Given the description of an element on the screen output the (x, y) to click on. 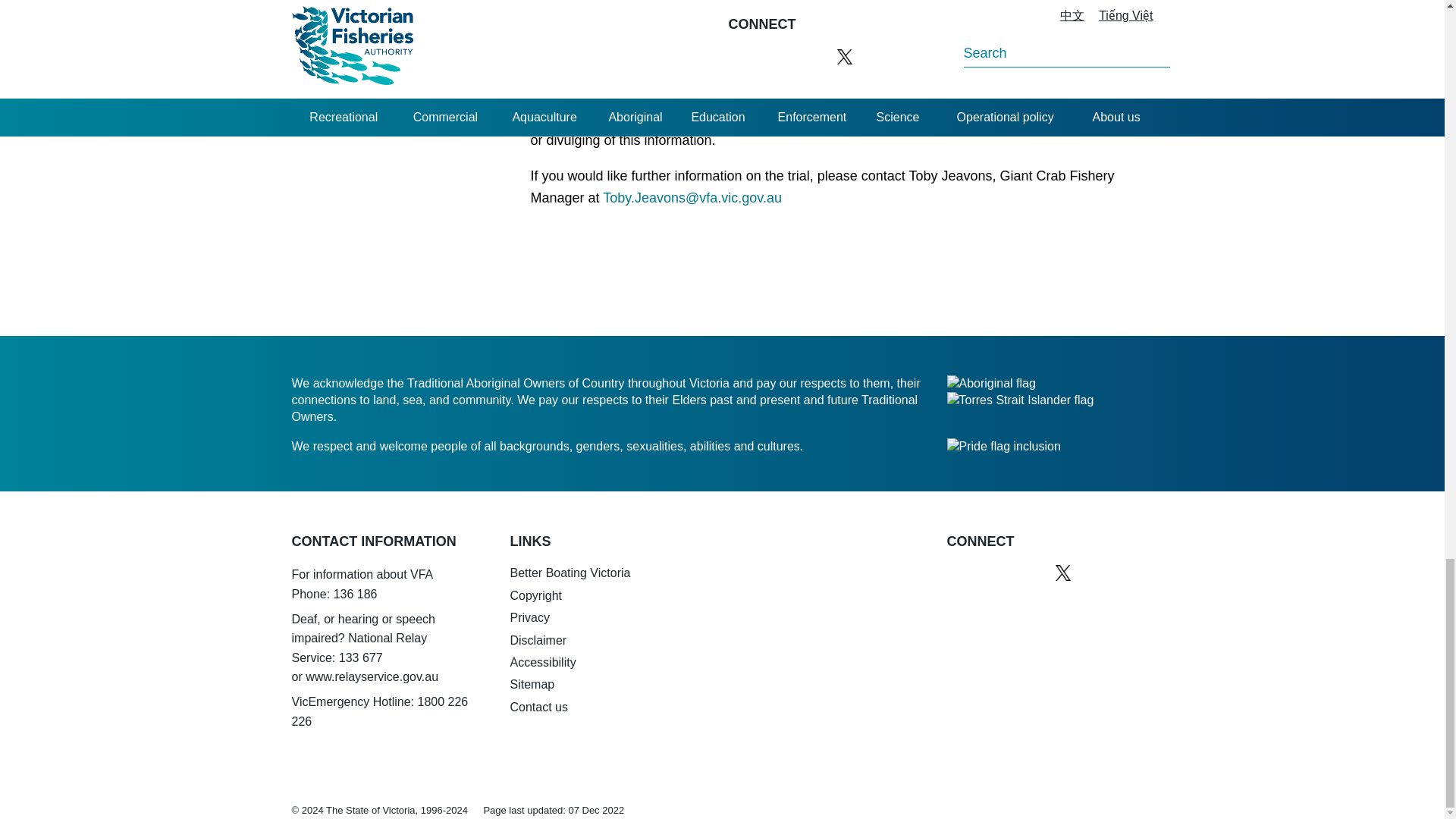
Facebook (953, 572)
YouTube (1024, 572)
Instagram (988, 572)
VIC State Government (980, 716)
Better Boating Victoria (980, 639)
